Given the description of an element on the screen output the (x, y) to click on. 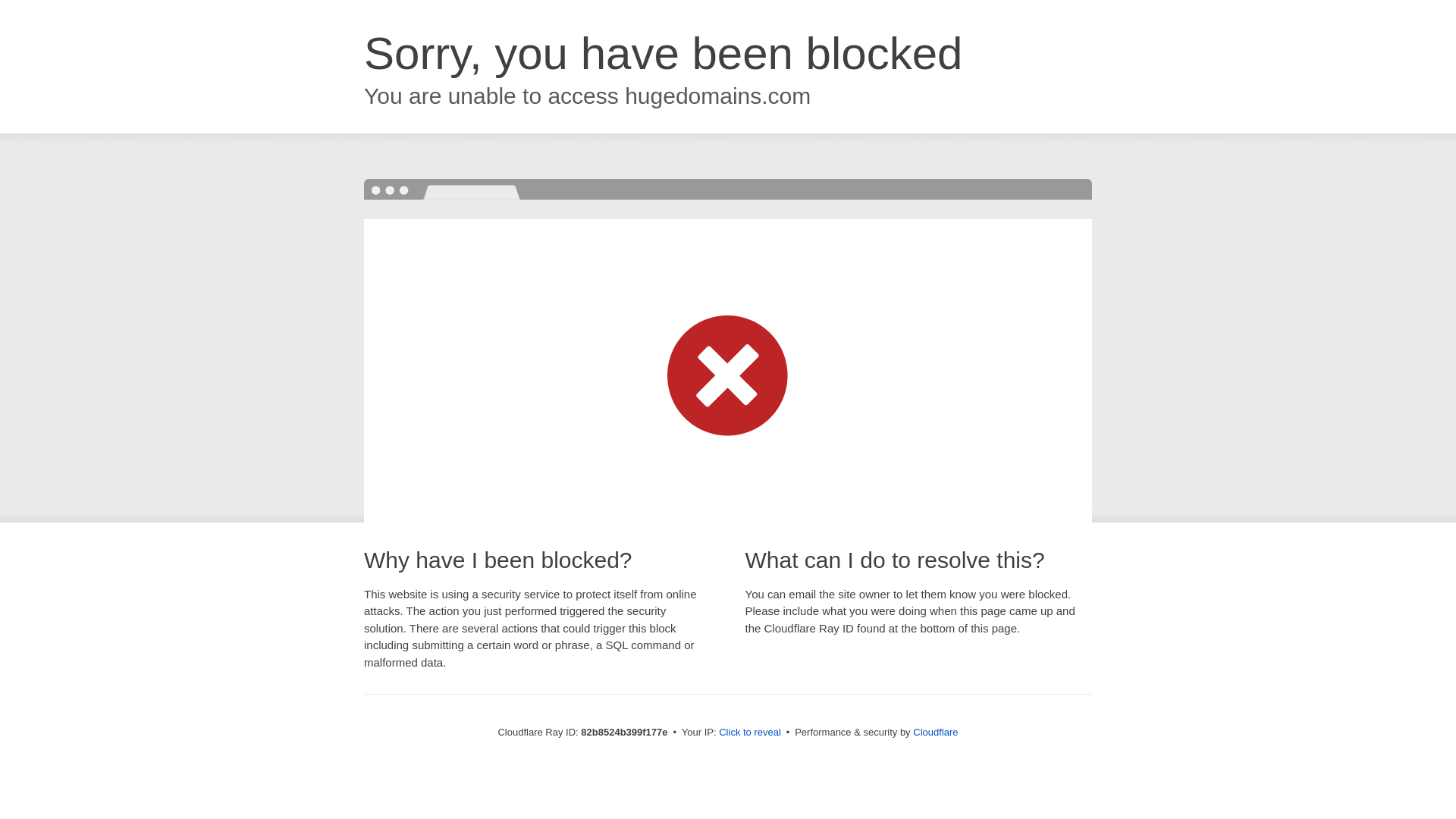
Cloudflare Element type: text (935, 731)
Click to reveal Element type: text (749, 732)
